Given the description of an element on the screen output the (x, y) to click on. 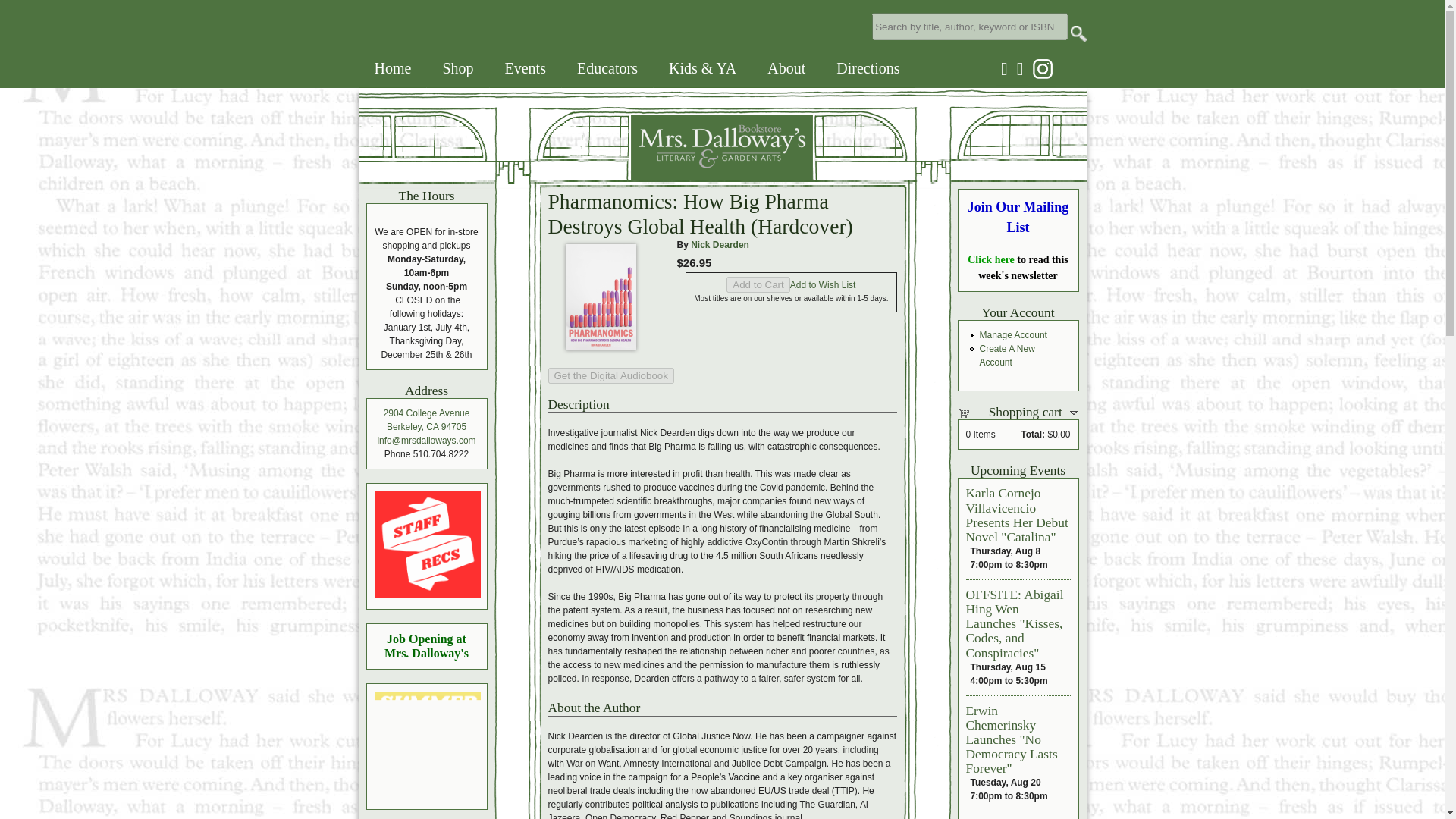
Add to Cart (757, 284)
Get the Digital Audiobook (609, 375)
Home (585, 176)
Enter the terms you wish to search for. (969, 26)
Skip to navigation (21, 0)
Get the Digital Audiobook (609, 375)
Directions (867, 68)
Home (392, 68)
About (786, 68)
